Given the description of an element on the screen output the (x, y) to click on. 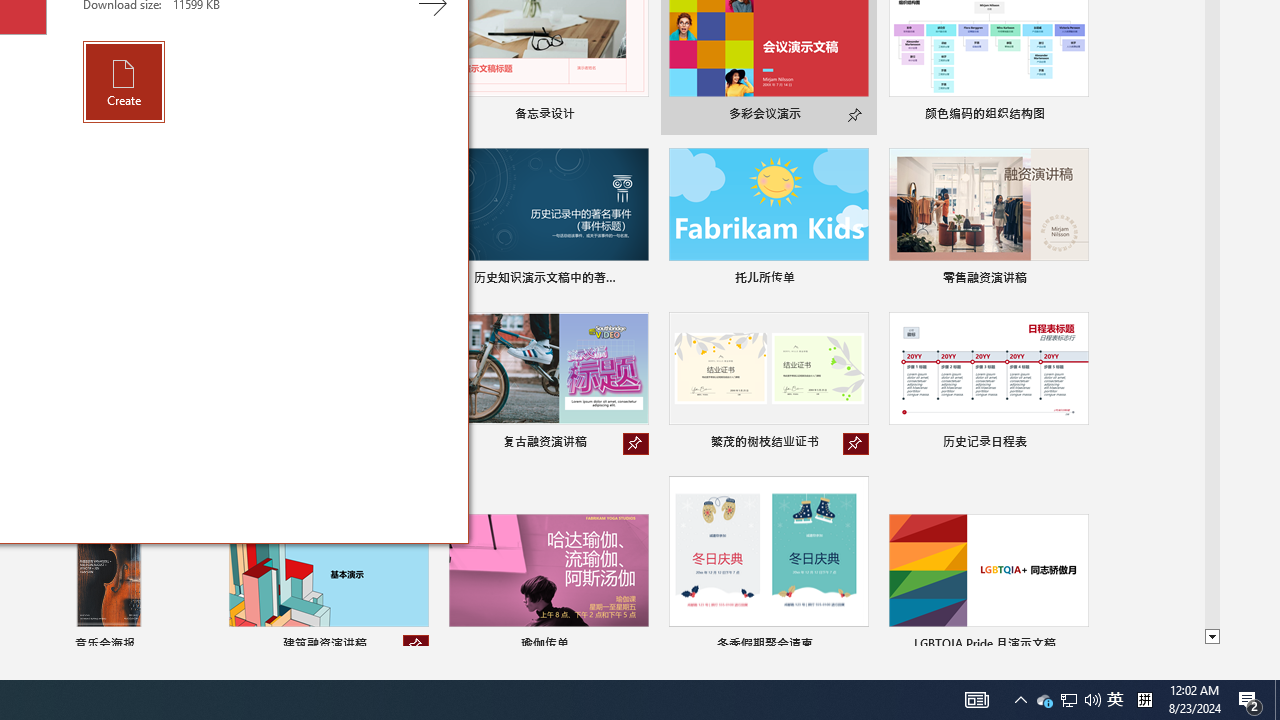
Q2790: 100% (1092, 699)
Tray Input Indicator - Chinese (Simplified, China) (1144, 699)
AutomationID: 4105 (976, 699)
Pin to list (1075, 645)
Action Center, 2 new notifications (1250, 699)
Unpin from list (415, 645)
User Promoted Notification Area (1069, 699)
Create (1068, 699)
Notification Chevron (124, 82)
